Given the description of an element on the screen output the (x, y) to click on. 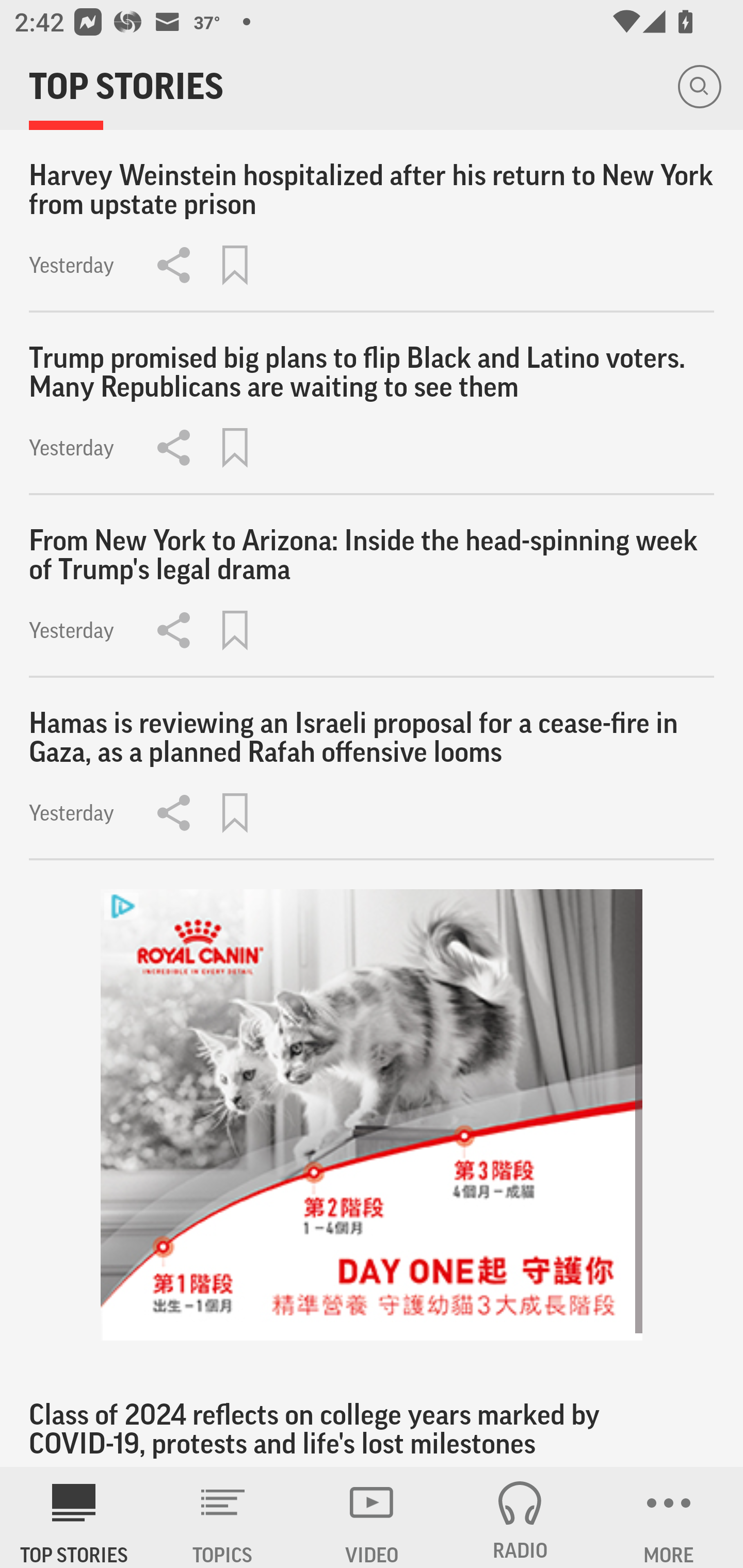
AP News TOP STORIES (74, 1517)
TOPICS (222, 1517)
VIDEO (371, 1517)
RADIO (519, 1517)
MORE (668, 1517)
